Given the description of an element on the screen output the (x, y) to click on. 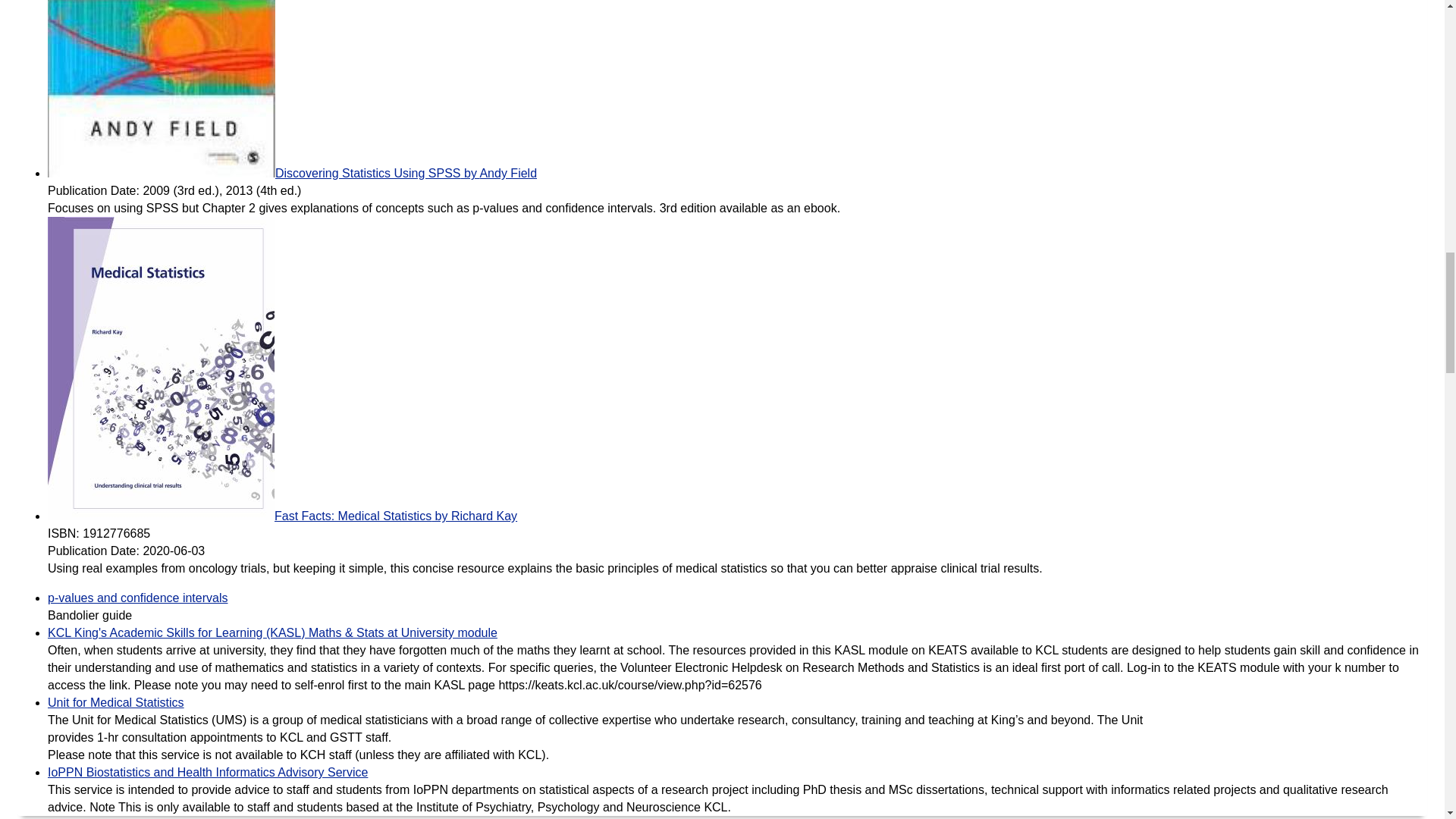
IoPPN Biostatistics and Health Informatics Advisory Service (208, 771)
Fast Facts: Medical Statistics by Richard Kay (282, 515)
Unit for Medical Statistics (116, 702)
p-values and confidence intervals (137, 597)
Discovering Statistics Using SPSS by Andy Field (292, 173)
